Given the description of an element on the screen output the (x, y) to click on. 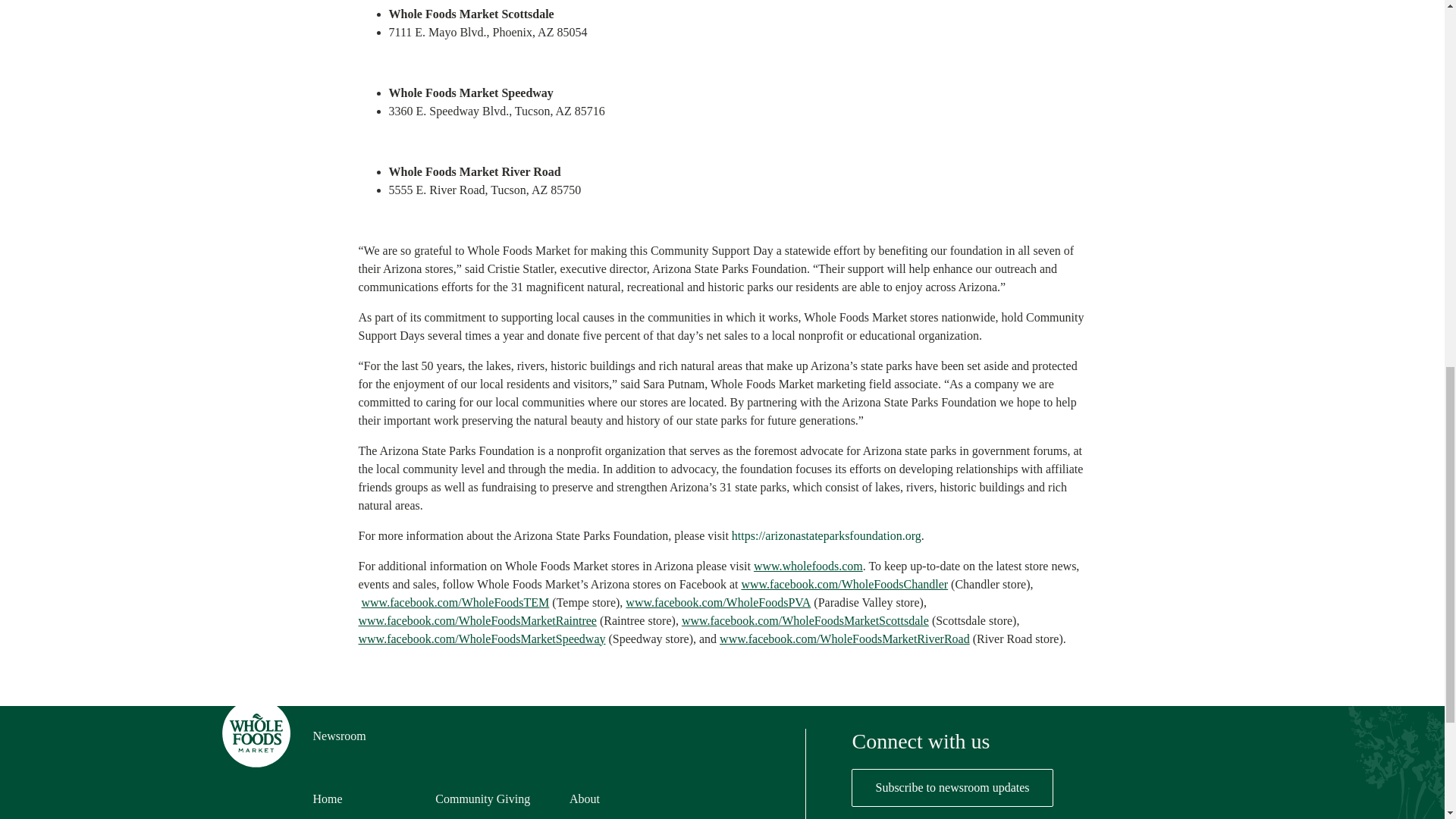
www.wholefoods.com (808, 565)
Subscribe to newsroom updates (951, 787)
Home (327, 798)
Community Giving (482, 798)
Subscribe (951, 787)
About (584, 798)
